Given the description of an element on the screen output the (x, y) to click on. 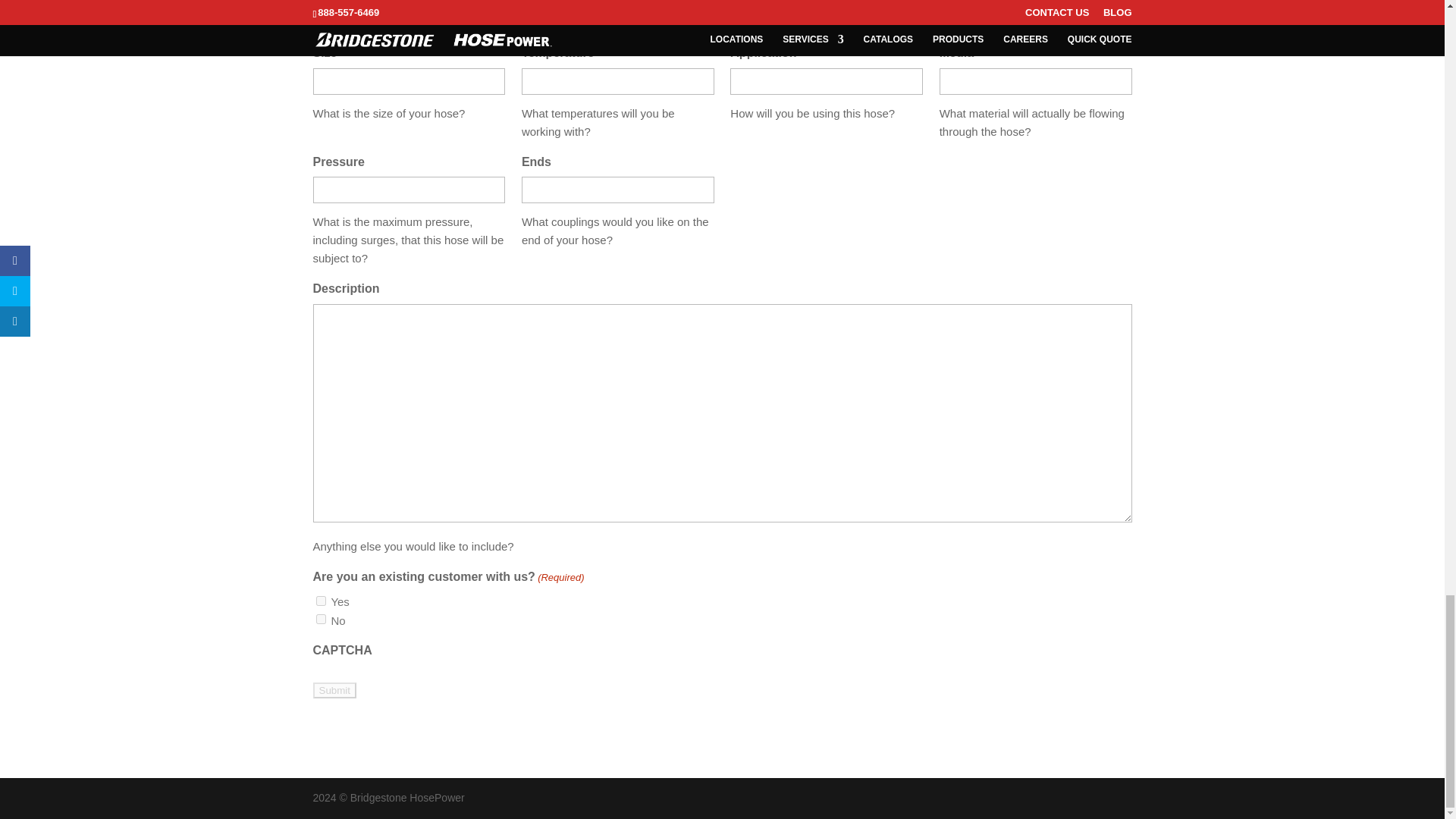
Yes (319, 601)
Submit (334, 690)
Submit (334, 690)
No (319, 619)
